Given the description of an element on the screen output the (x, y) to click on. 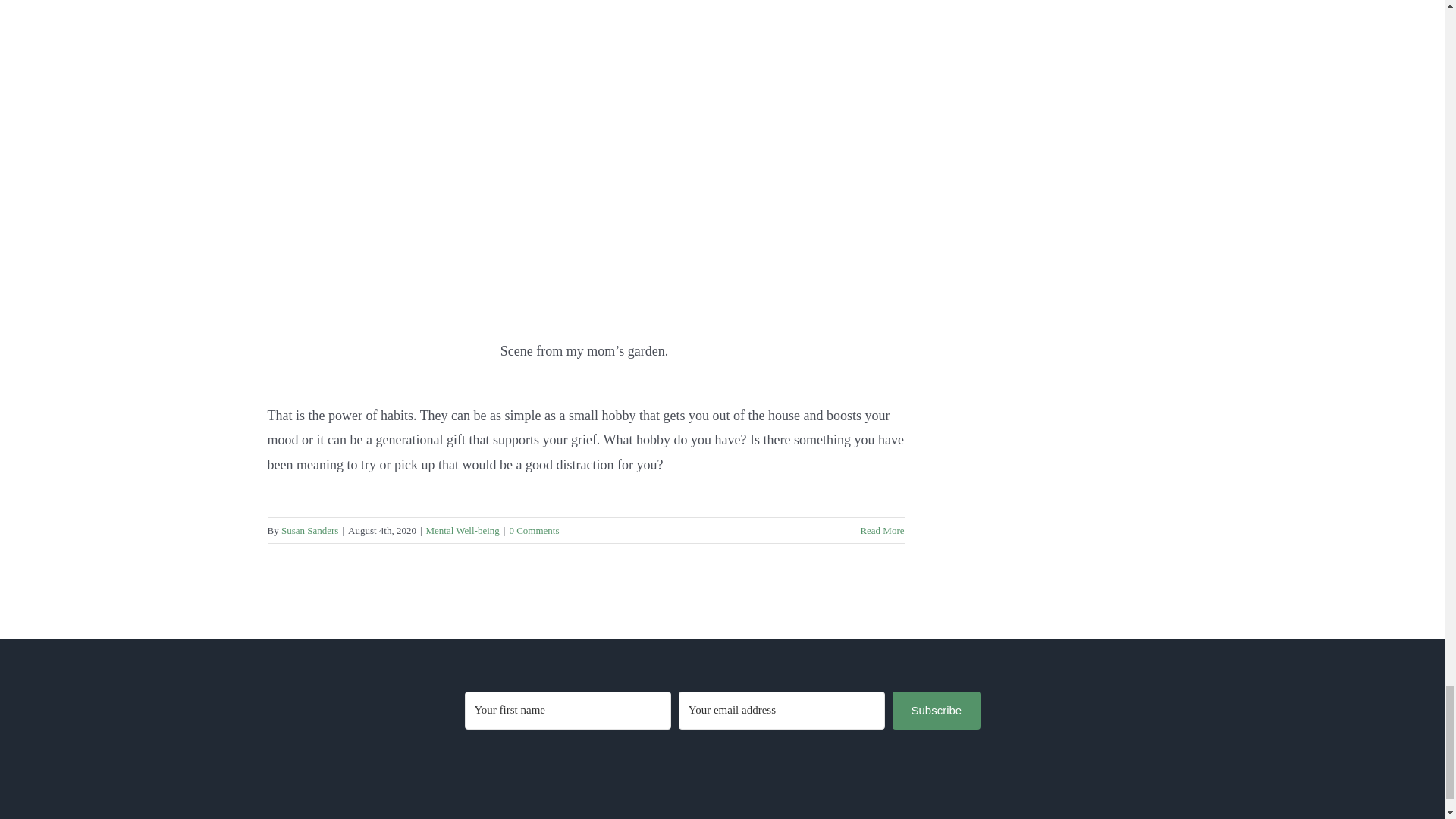
Posts by Susan Sanders (309, 530)
Susan Sanders (309, 530)
Mental Well-being (462, 530)
Read More (882, 530)
0 Comments (533, 530)
